Given the description of an element on the screen output the (x, y) to click on. 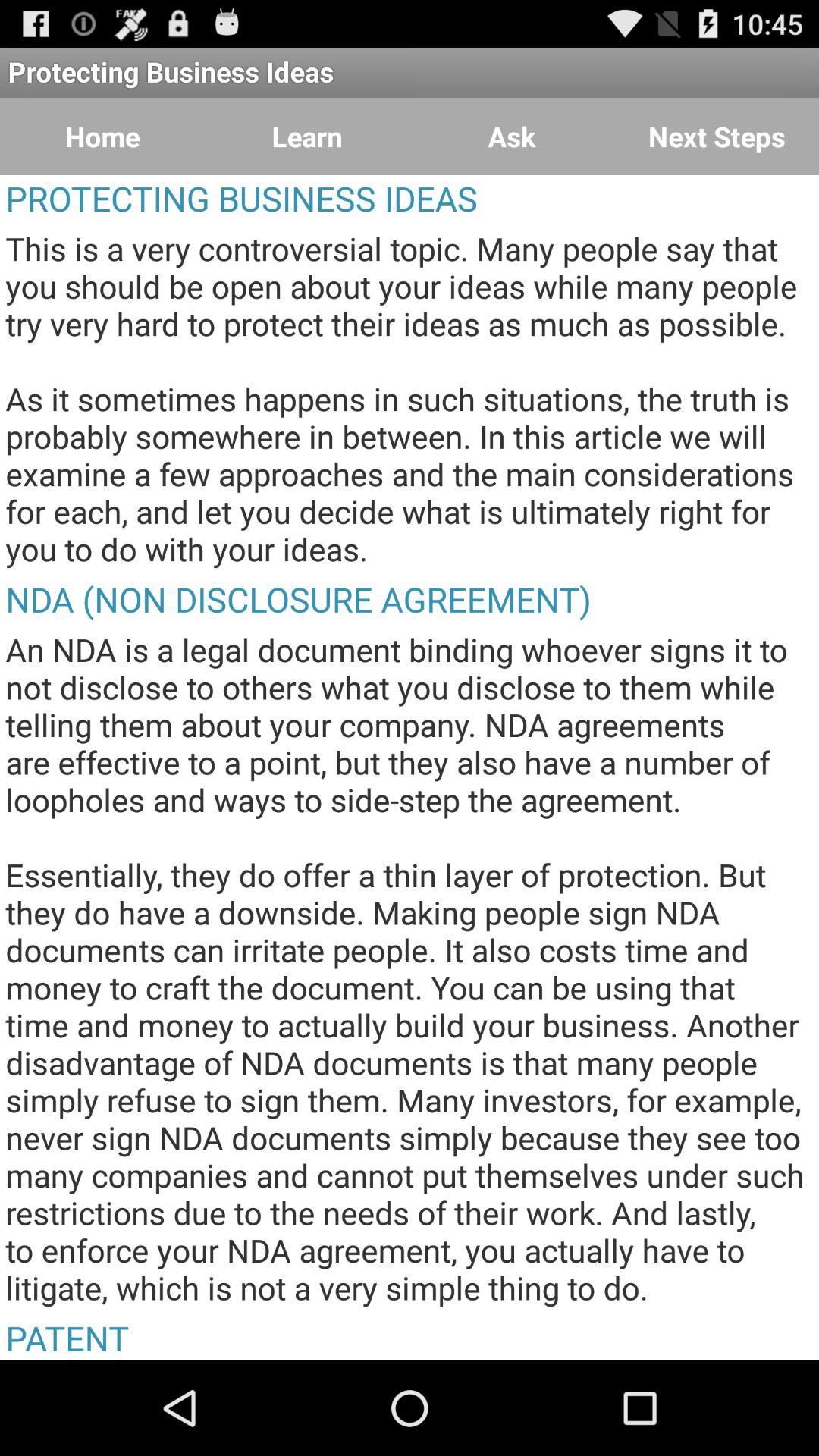
open home item (102, 136)
